Given the description of an element on the screen output the (x, y) to click on. 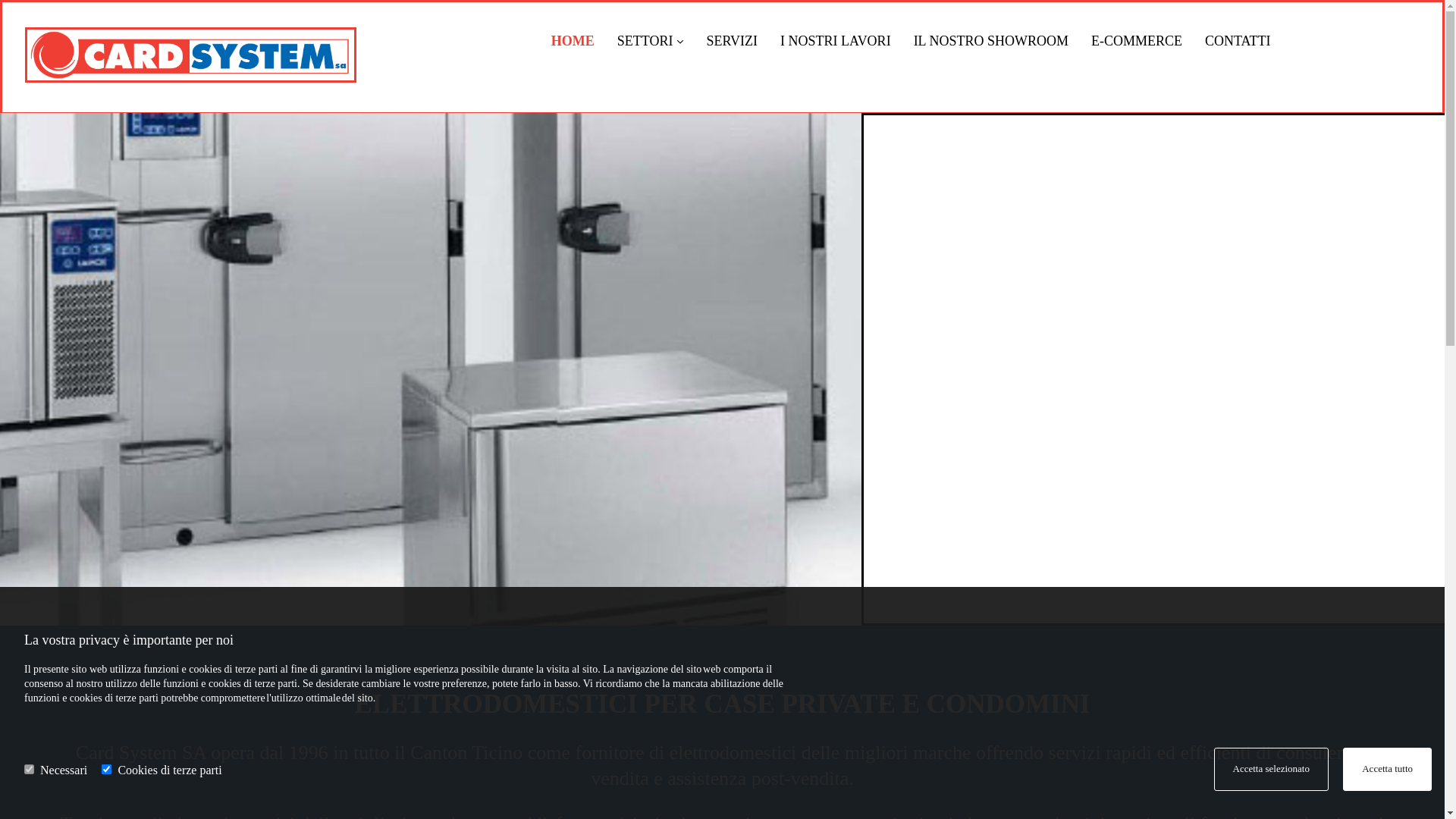
I NOSTRI LAVORI Element type: text (835, 41)
Accetta tutto Element type: text (1387, 768)
IL NOSTRO SHOWROOM Element type: text (990, 41)
CONTATTI Element type: text (1237, 41)
SETTORI Element type: text (650, 41)
Accetta selezionato Element type: text (1271, 768)
HOME Element type: text (572, 41)
SERVIZI Element type: text (731, 41)
E-COMMERCE Element type: text (1136, 41)
